Given the description of an element on the screen output the (x, y) to click on. 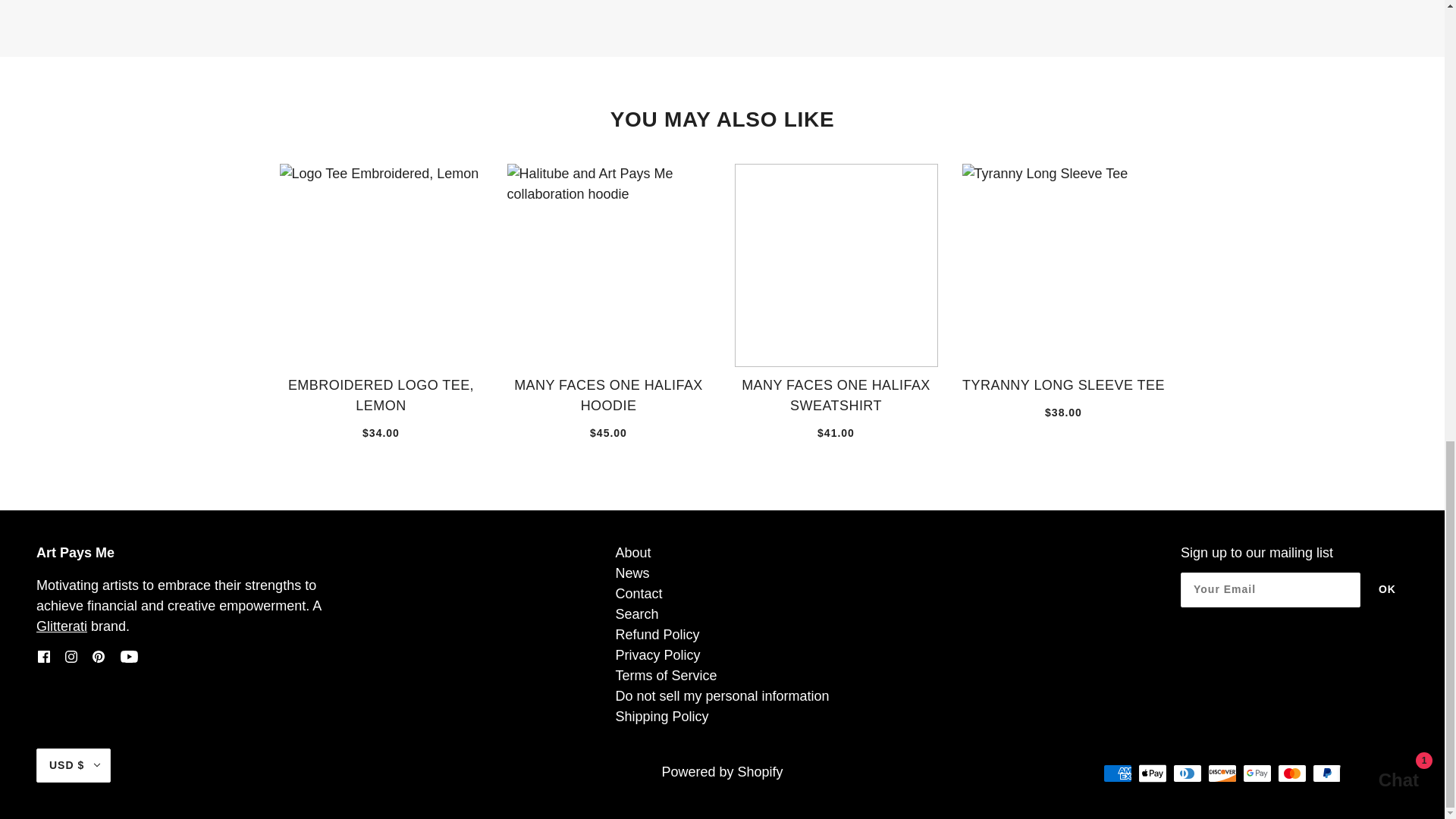
About (632, 552)
Shipping Policy (660, 716)
Search (636, 613)
Contact (638, 593)
Terms of Service (665, 675)
News (631, 572)
Glitterati Communications website (61, 626)
Privacy Policy (657, 654)
Refund Policy (656, 634)
Do not sell my personal information (721, 695)
